Given the description of an element on the screen output the (x, y) to click on. 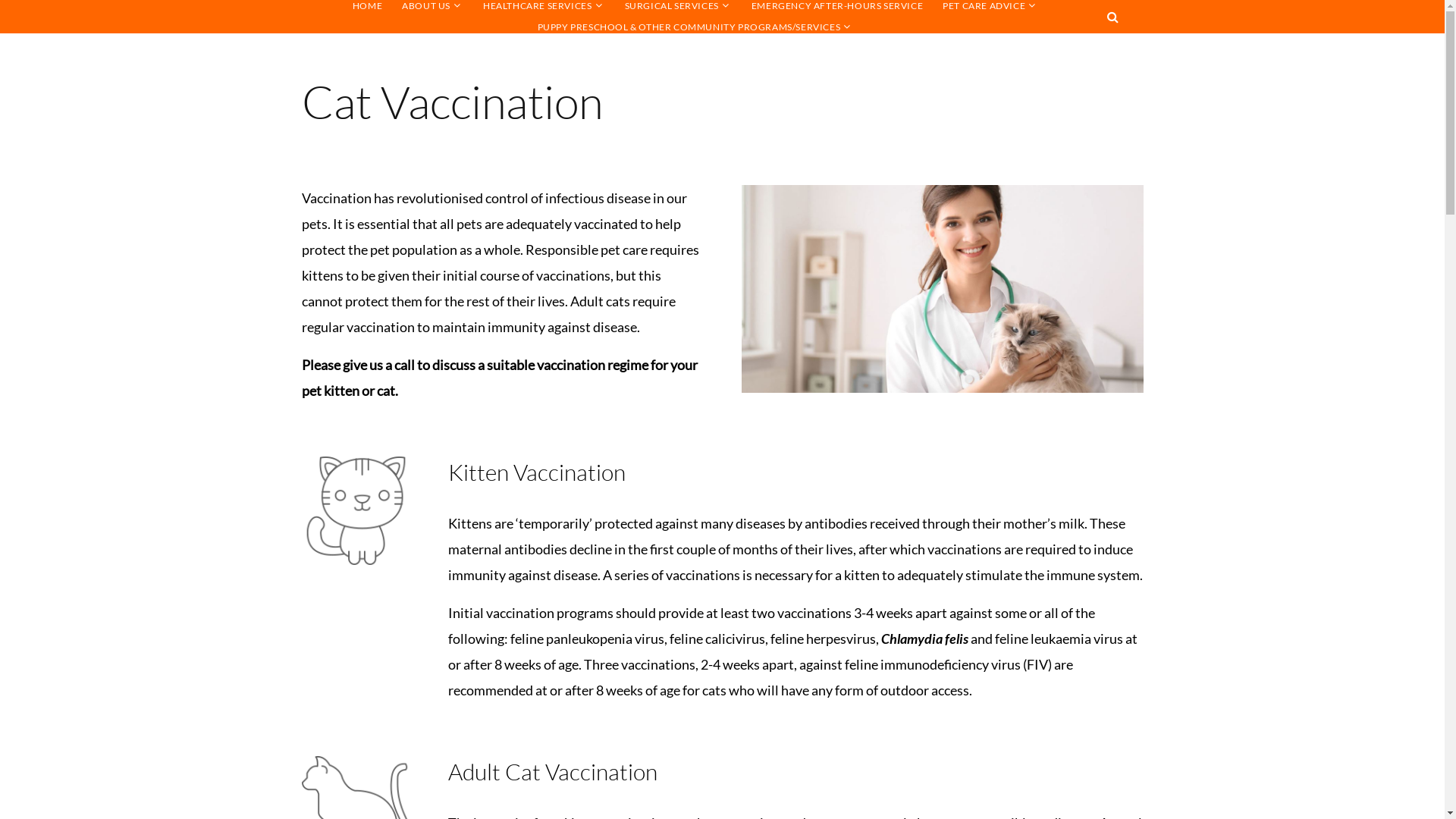
EMERGENCY AFTER-HOURS SERVICE Element type: text (836, 5)
PET CARE ADVICE Element type: text (983, 5)
HOME Element type: text (367, 5)
HEALTHCARE SERVICES Element type: text (537, 5)
ABOUT US Element type: text (425, 5)
PUPPY PRESCHOOL & OTHER COMMUNITY PROGRAMS/SERVICES Element type: text (688, 26)
SURGICAL SERVICES Element type: text (671, 5)
